Given the description of an element on the screen output the (x, y) to click on. 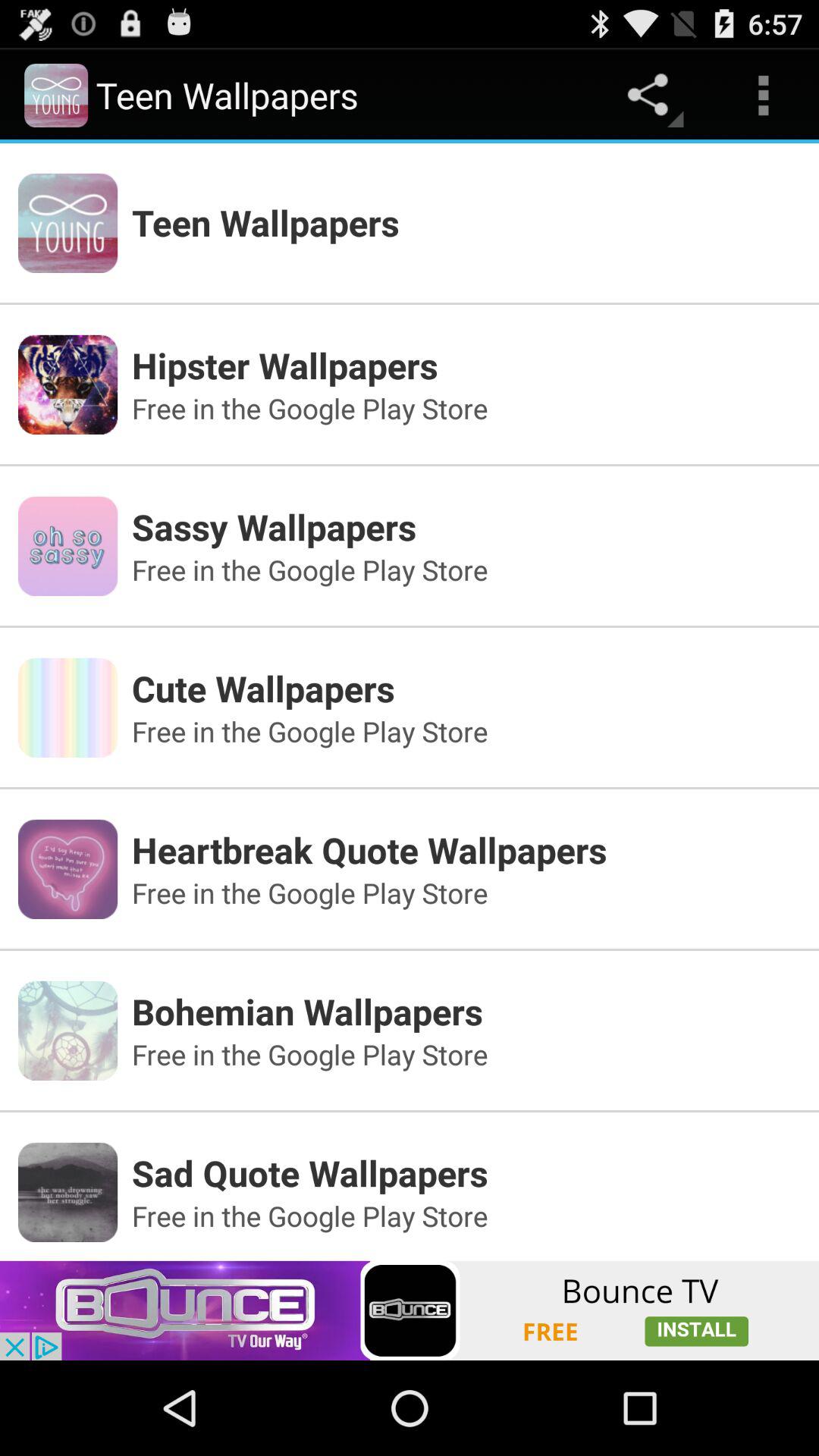
select the add image (409, 1310)
